Given the description of an element on the screen output the (x, y) to click on. 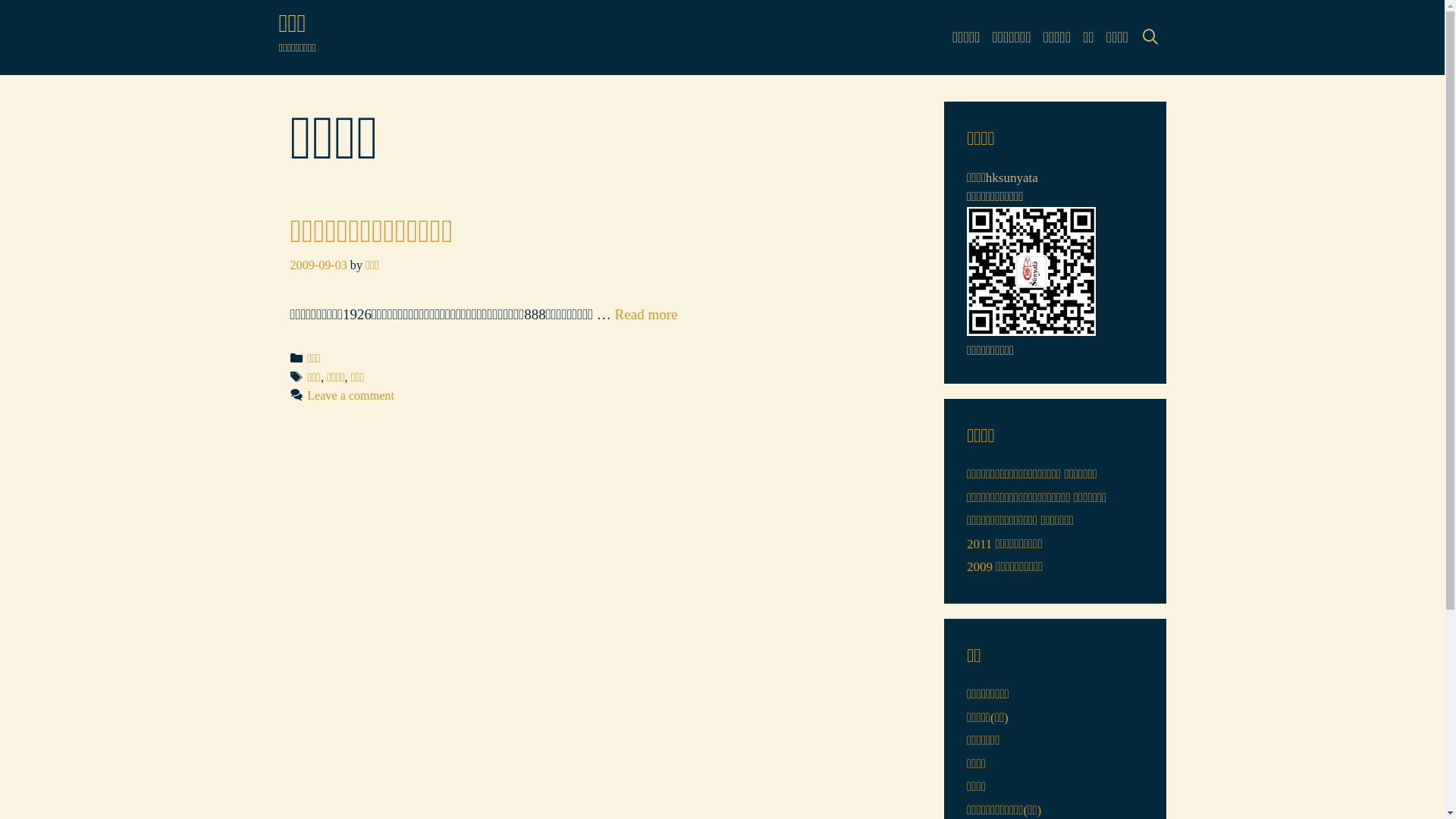
Skip to content Element type: text (0, 0)
Leave a comment Element type: text (350, 395)
Search Element type: text (35, 19)
Search Element type: text (109, 28)
2009-09-03 Element type: text (317, 264)
SEARCH Element type: text (1150, 37)
